Given the description of an element on the screen output the (x, y) to click on. 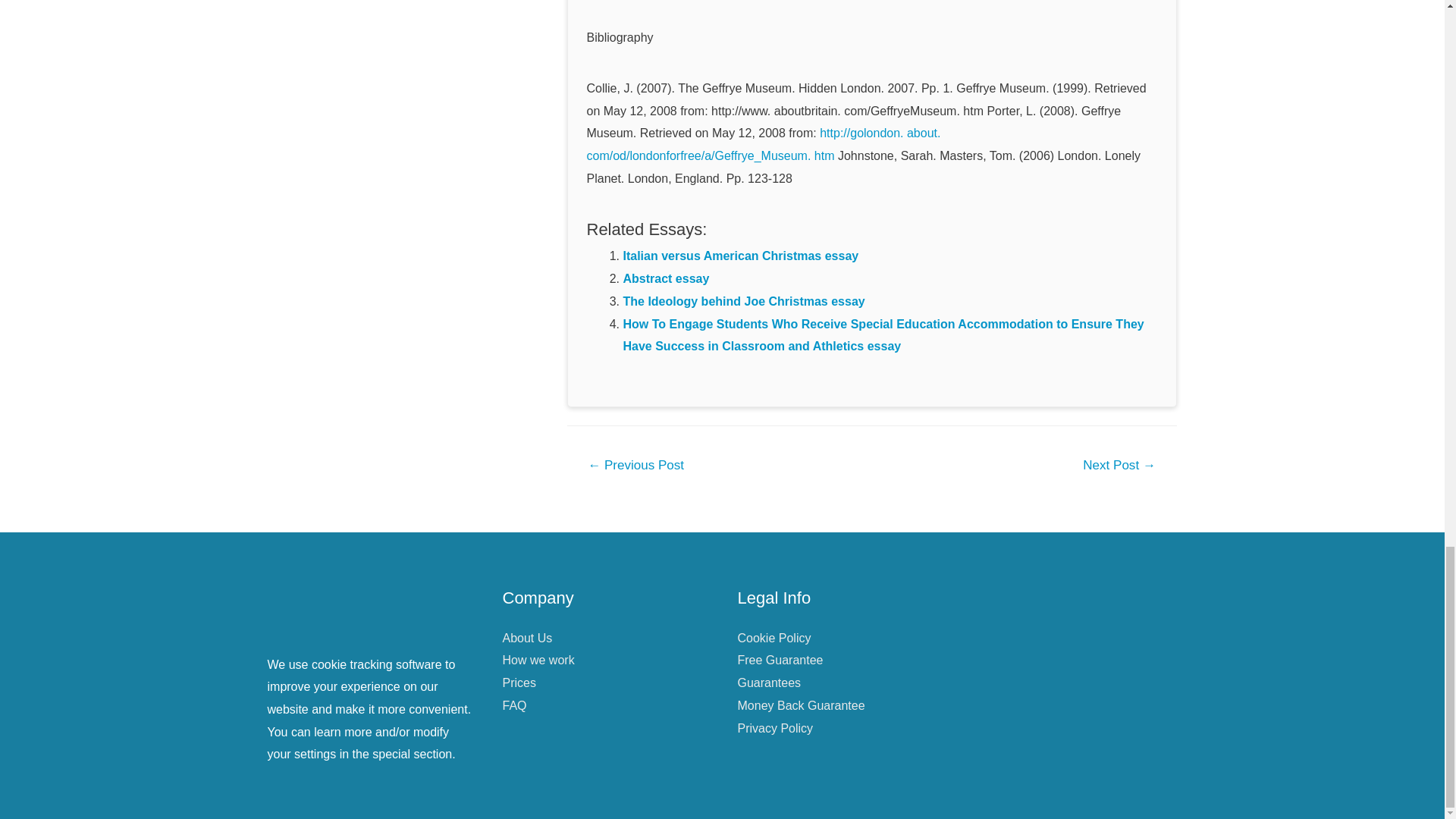
The Ideology behind Joe Christmas essay (743, 300)
Prices (518, 682)
Abstract essay (666, 278)
Money Back Guarantee (800, 705)
Cookie Policy (773, 637)
Abstract essay (666, 278)
About Us (526, 637)
The Ideology behind Joe Christmas essay (743, 300)
Italian versus American Christmas essay (741, 255)
